Given the description of an element on the screen output the (x, y) to click on. 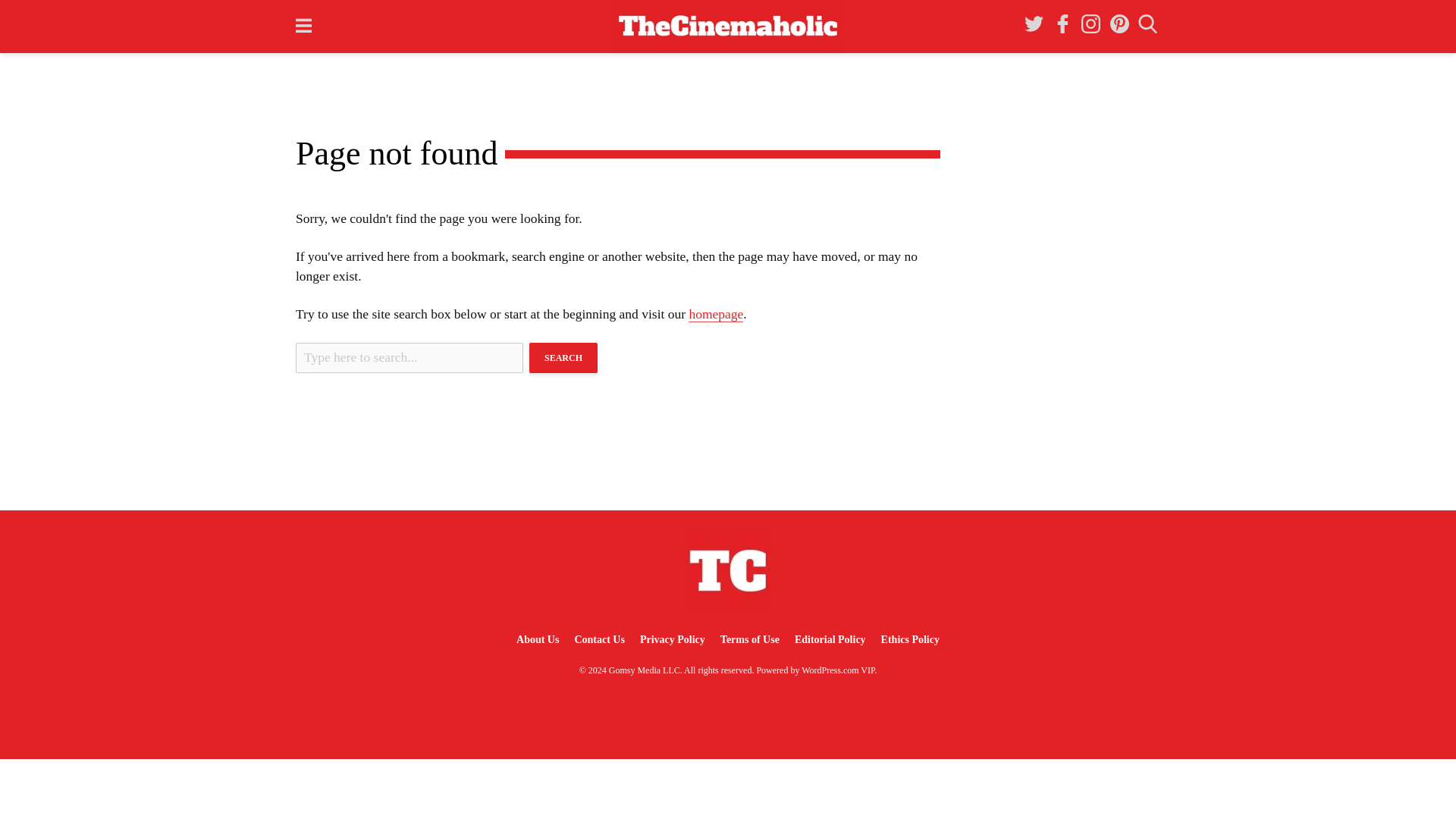
SEARCH (562, 358)
Ethics Policy (910, 639)
Editorial Policy (830, 639)
WordPress.com VIP (838, 670)
homepage (715, 314)
About Us (537, 639)
Terms of Use (750, 639)
